Given the description of an element on the screen output the (x, y) to click on. 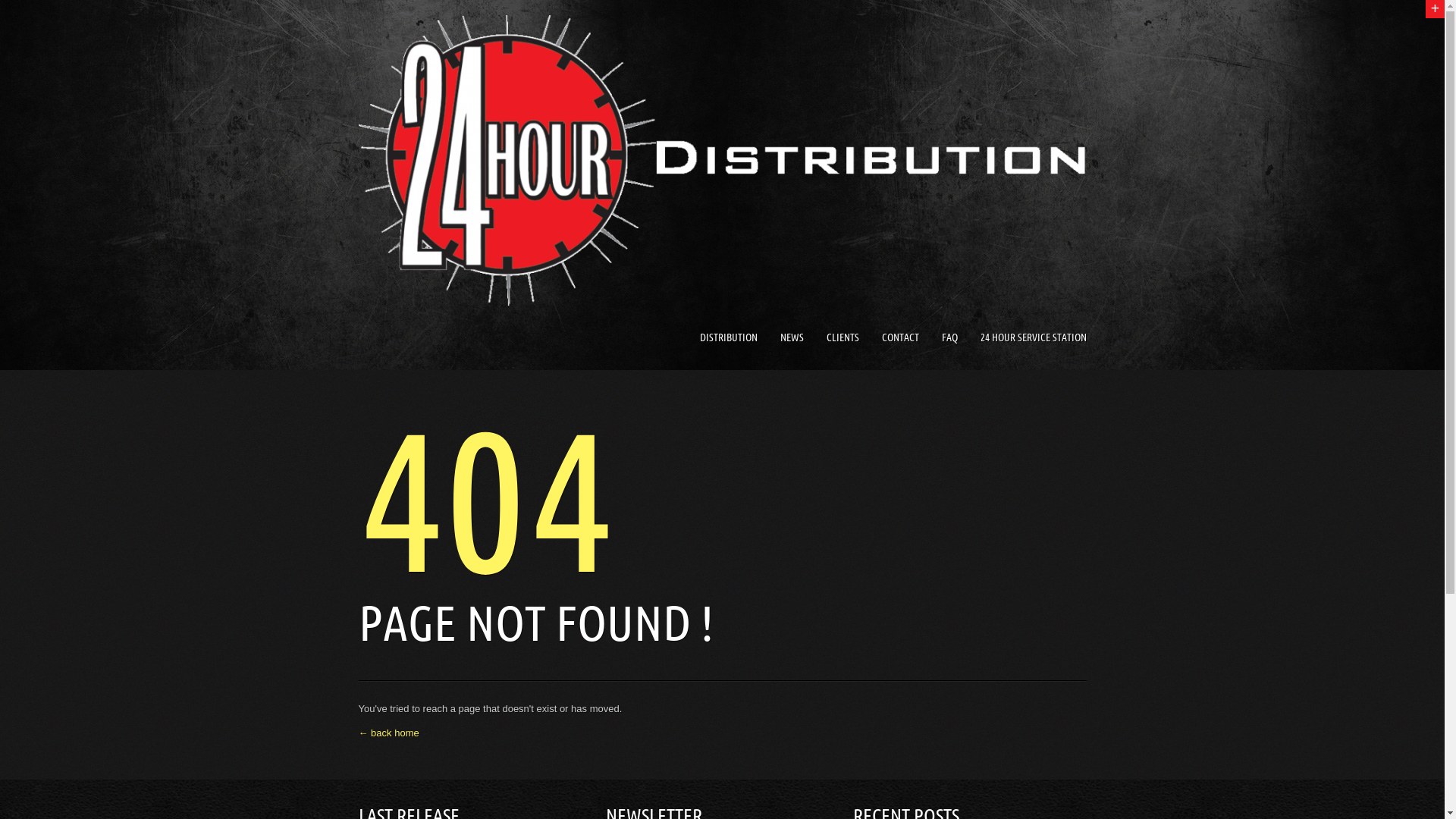
CONTACT Element type: text (899, 337)
NEWS Element type: text (791, 337)
CLIENTS Element type: text (842, 337)
FAQ Element type: text (949, 337)
24 HOUR SERVICE STATION Element type: text (1032, 337)
DISTRIBUTION Element type: text (727, 337)
